Given the description of an element on the screen output the (x, y) to click on. 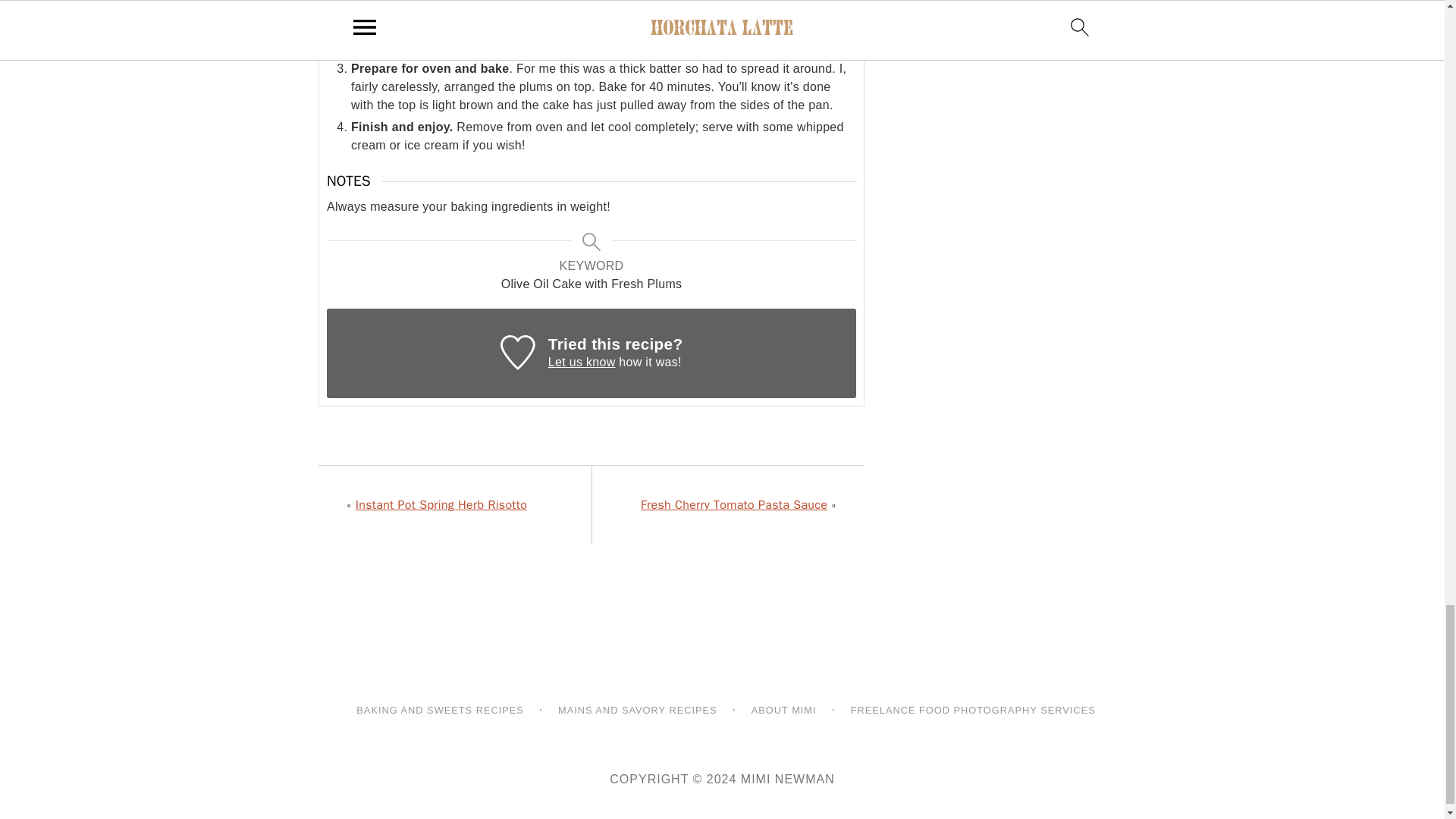
ABOUT MIMI (780, 710)
Fresh Cherry Tomato Pasta Sauce (733, 504)
FREELANCE FOOD PHOTOGRAPHY SERVICES (968, 710)
MAINS AND SAVORY RECIPES (633, 710)
Let us know (581, 361)
Instant Pot Spring Herb Risotto (441, 504)
BAKING AND SWEETS RECIPES (436, 710)
